Given the description of an element on the screen output the (x, y) to click on. 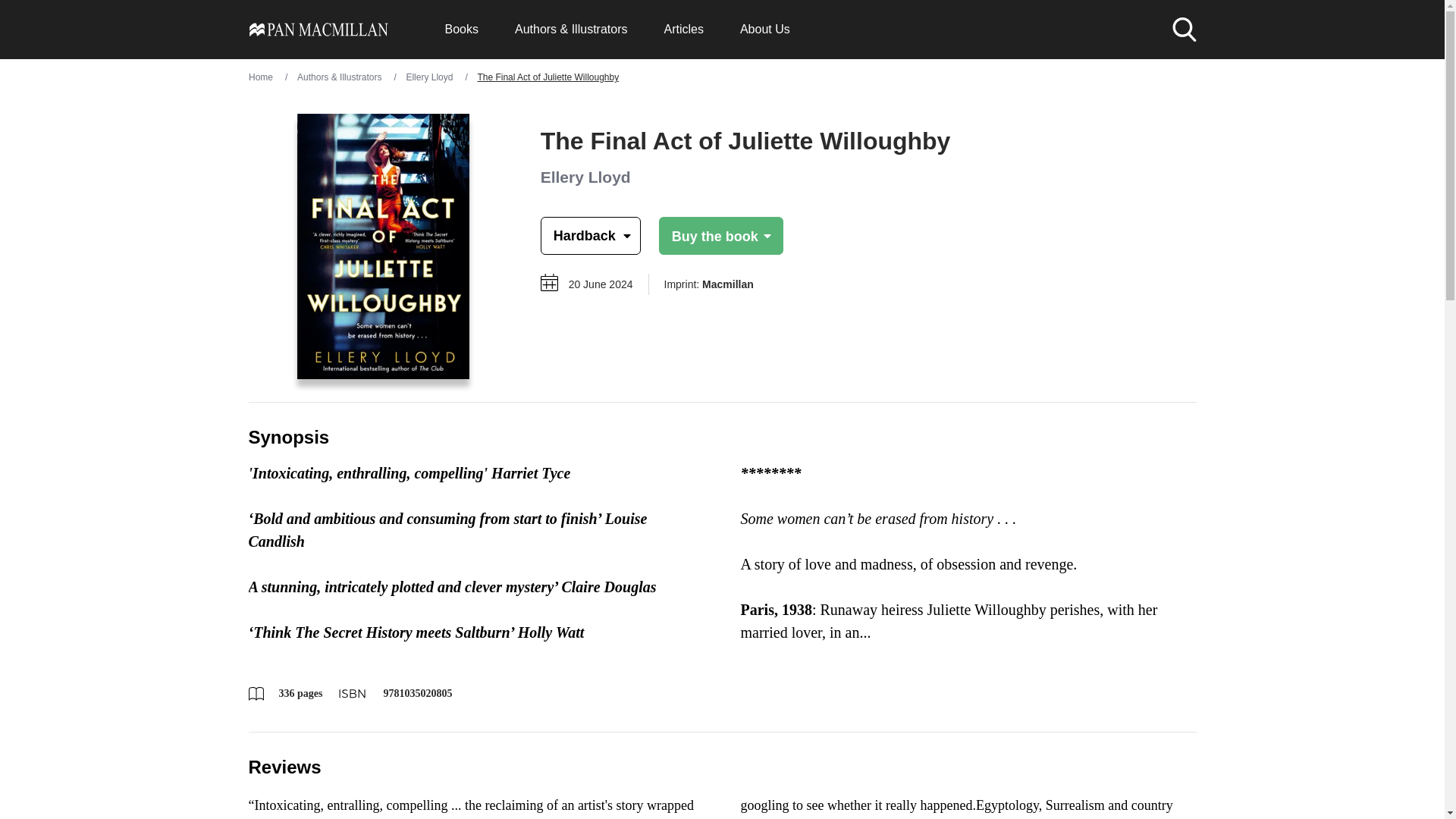
Books (460, 29)
